Given the description of an element on the screen output the (x, y) to click on. 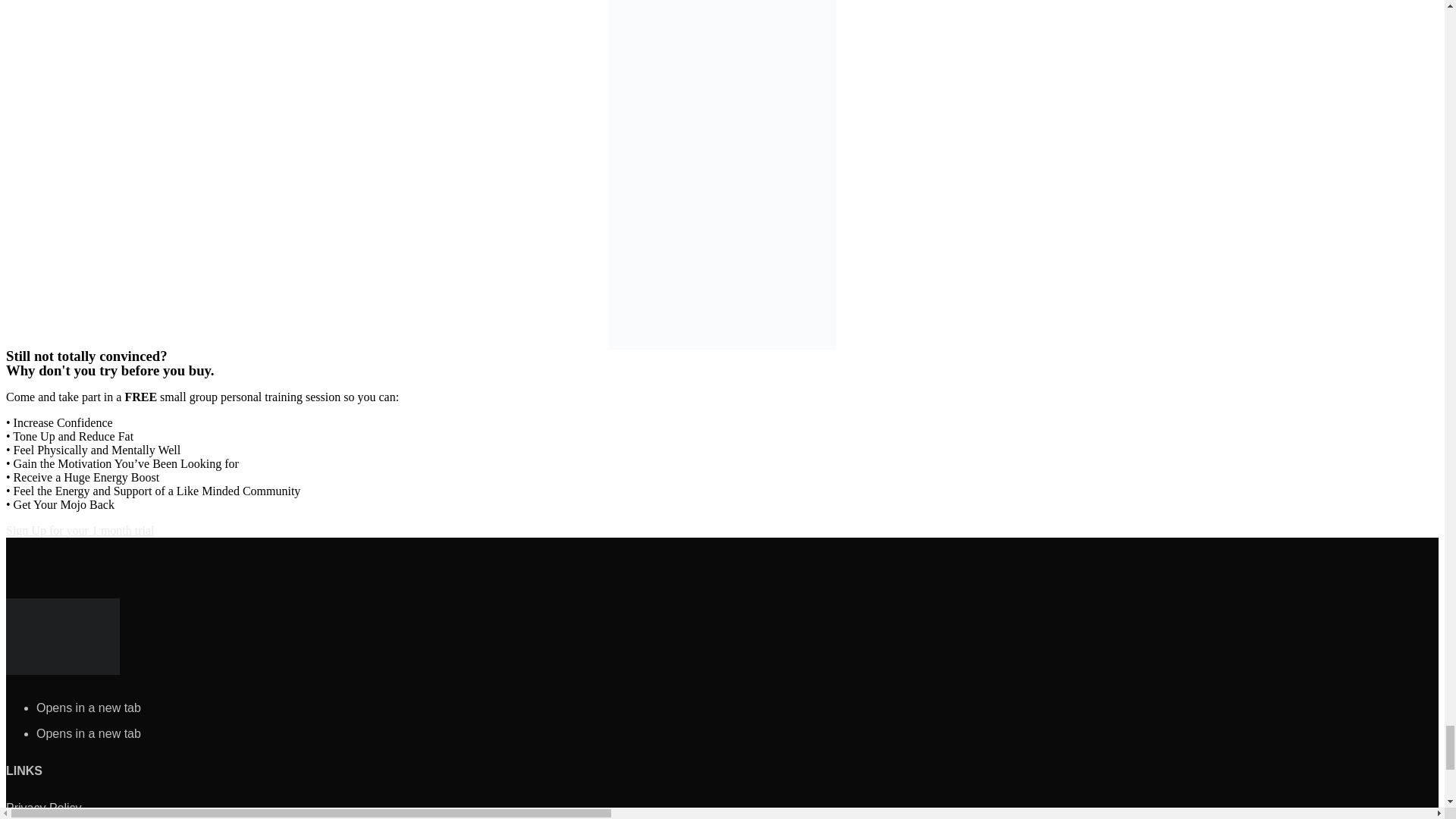
Sign Up for your 1 month trial (79, 529)
Privacy Policy (43, 807)
